Given the description of an element on the screen output the (x, y) to click on. 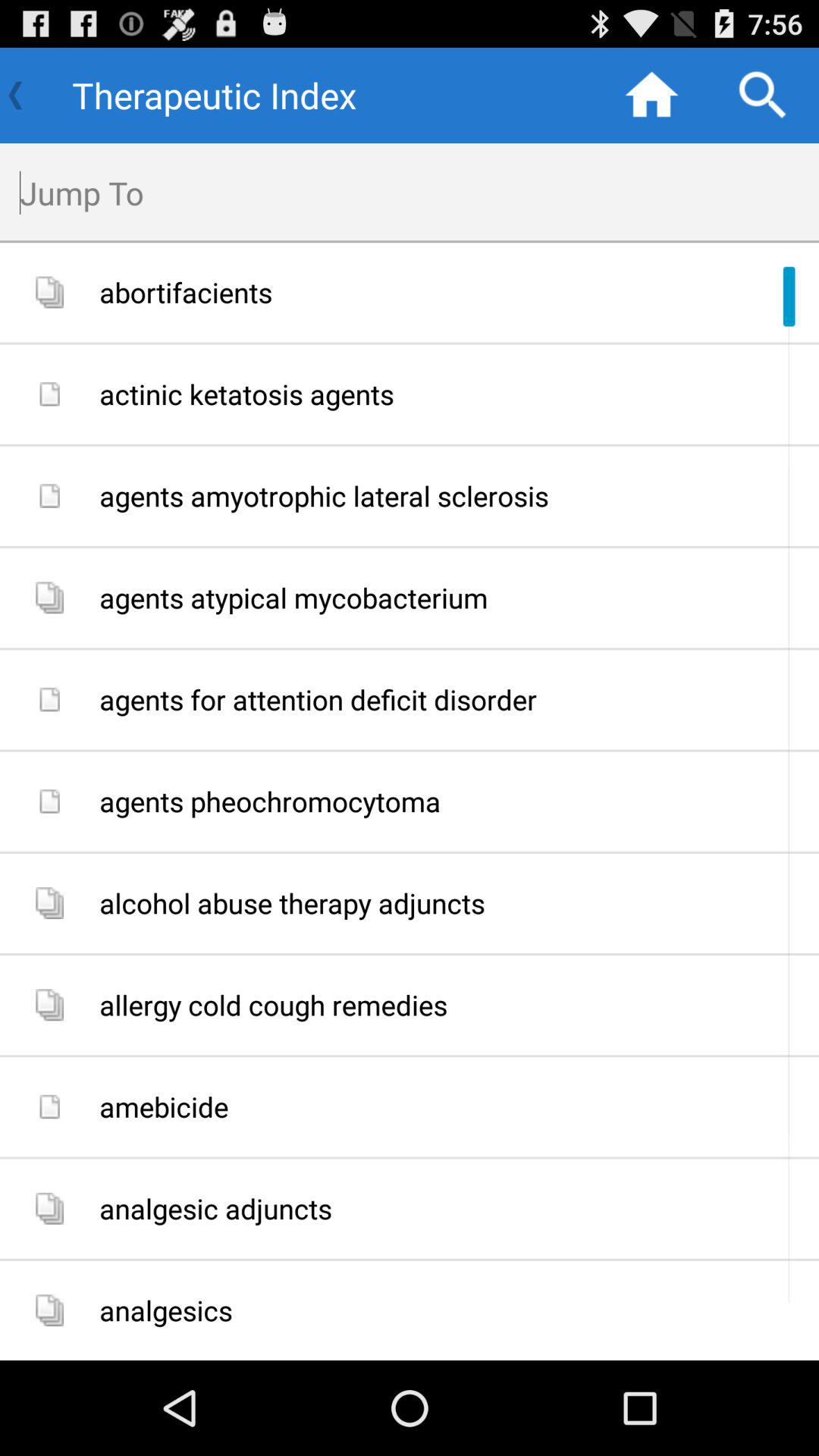
turn off app above agents for attention (453, 597)
